Given the description of an element on the screen output the (x, y) to click on. 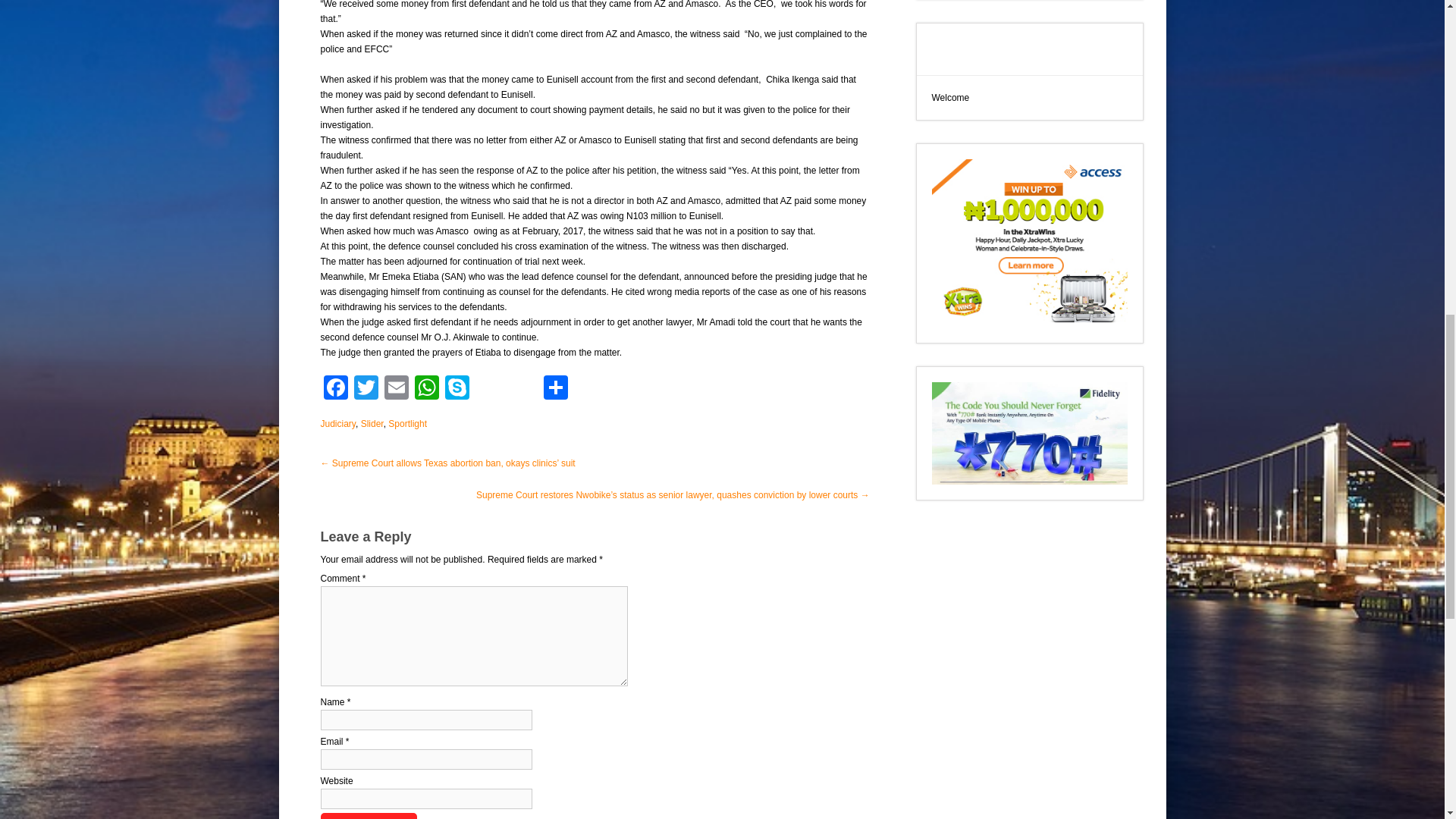
WhatsApp (425, 389)
Email (395, 389)
Facebook (335, 389)
Twitter (365, 389)
Judiciary (337, 423)
View all posts in Sportlight (407, 423)
WhatsApp (425, 389)
Twitter (365, 389)
Slider (372, 423)
View all posts in Judiciary (337, 423)
View all posts in Slider (372, 423)
Sportlight (407, 423)
Post Comment (368, 816)
Email (395, 389)
Facebook (335, 389)
